Given the description of an element on the screen output the (x, y) to click on. 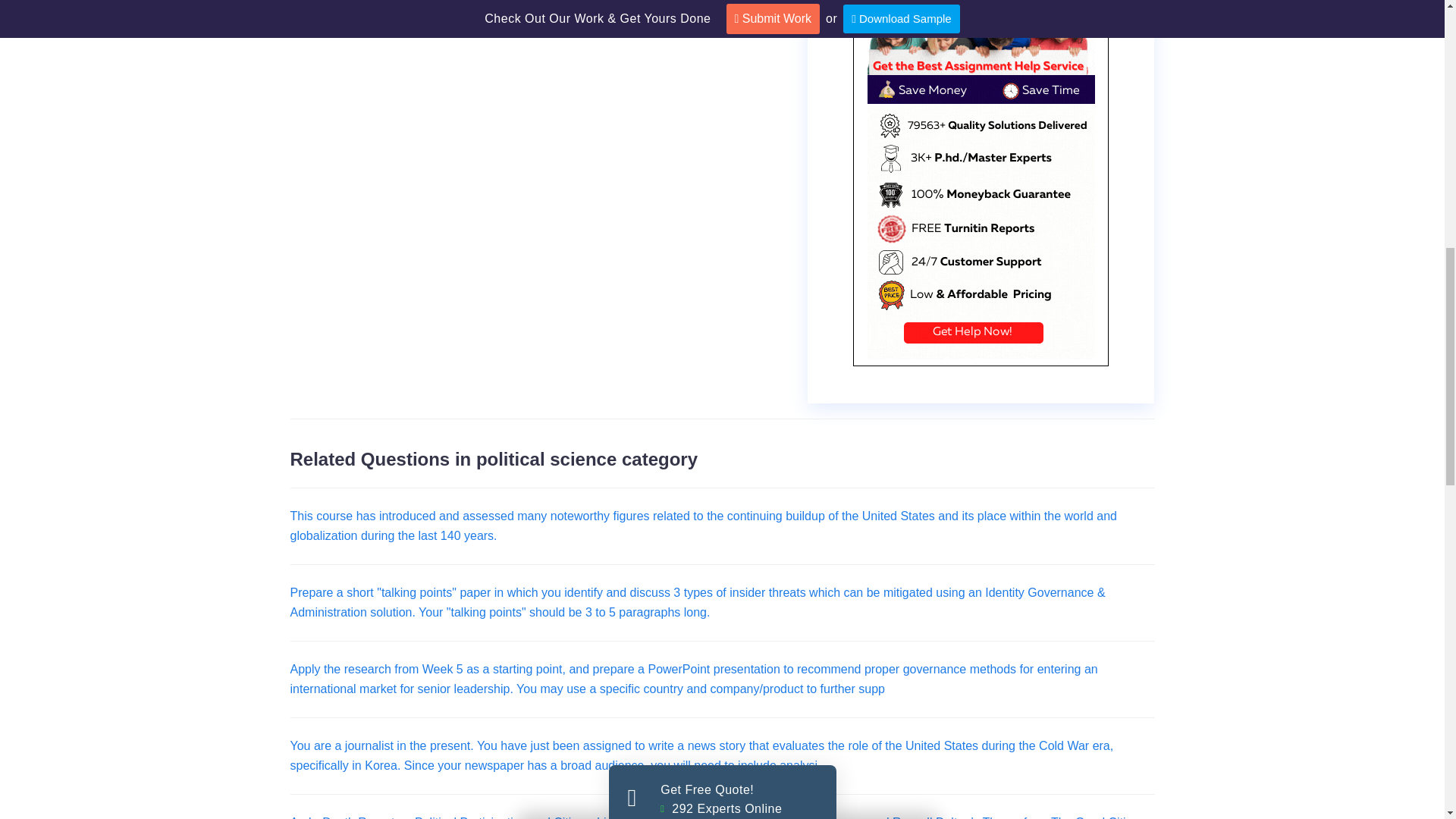
Submit Assignment (722, 635)
